Given the description of an element on the screen output the (x, y) to click on. 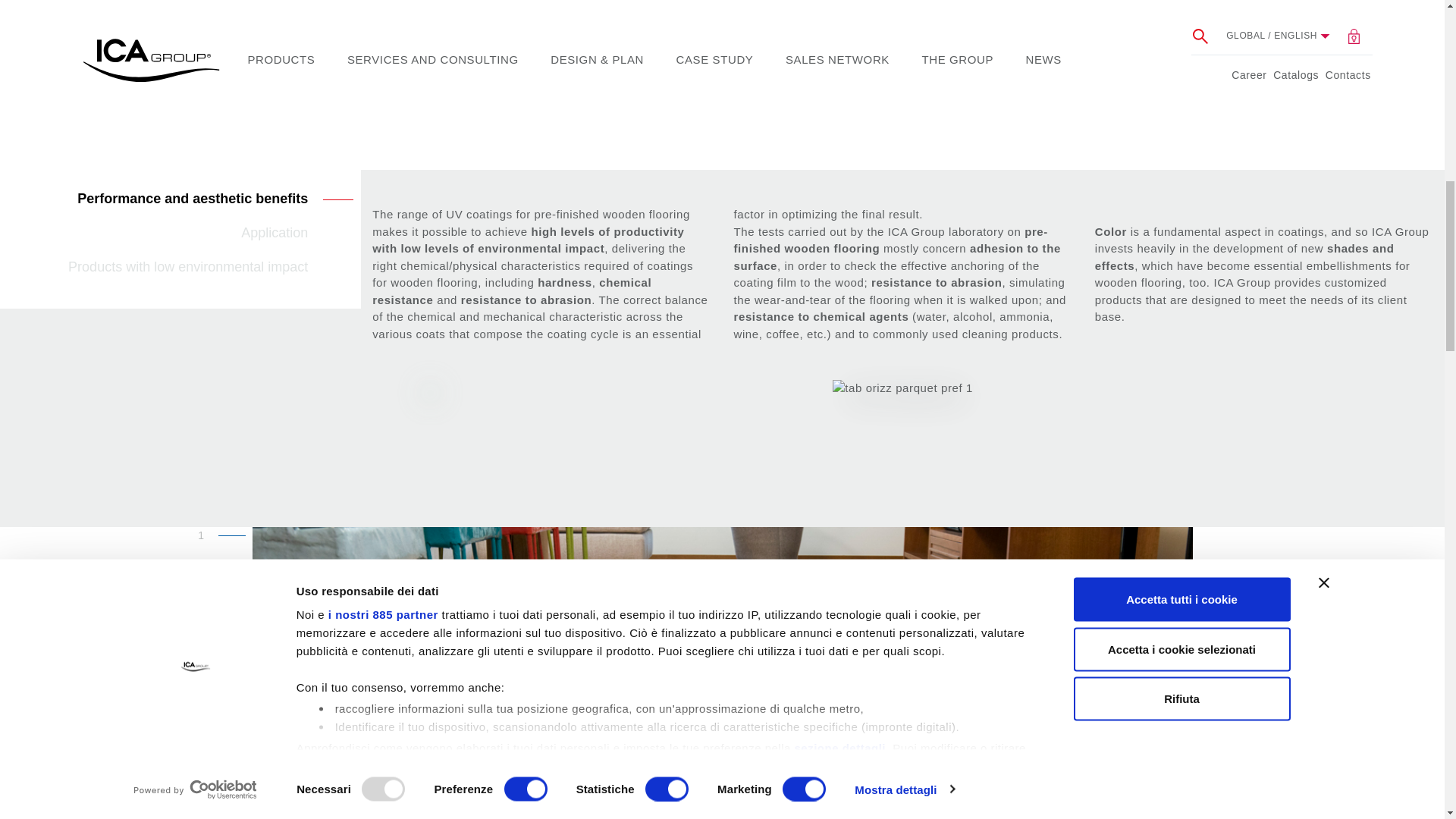
Clicca qui (325, 182)
Privacy (325, 182)
